Given the description of an element on the screen output the (x, y) to click on. 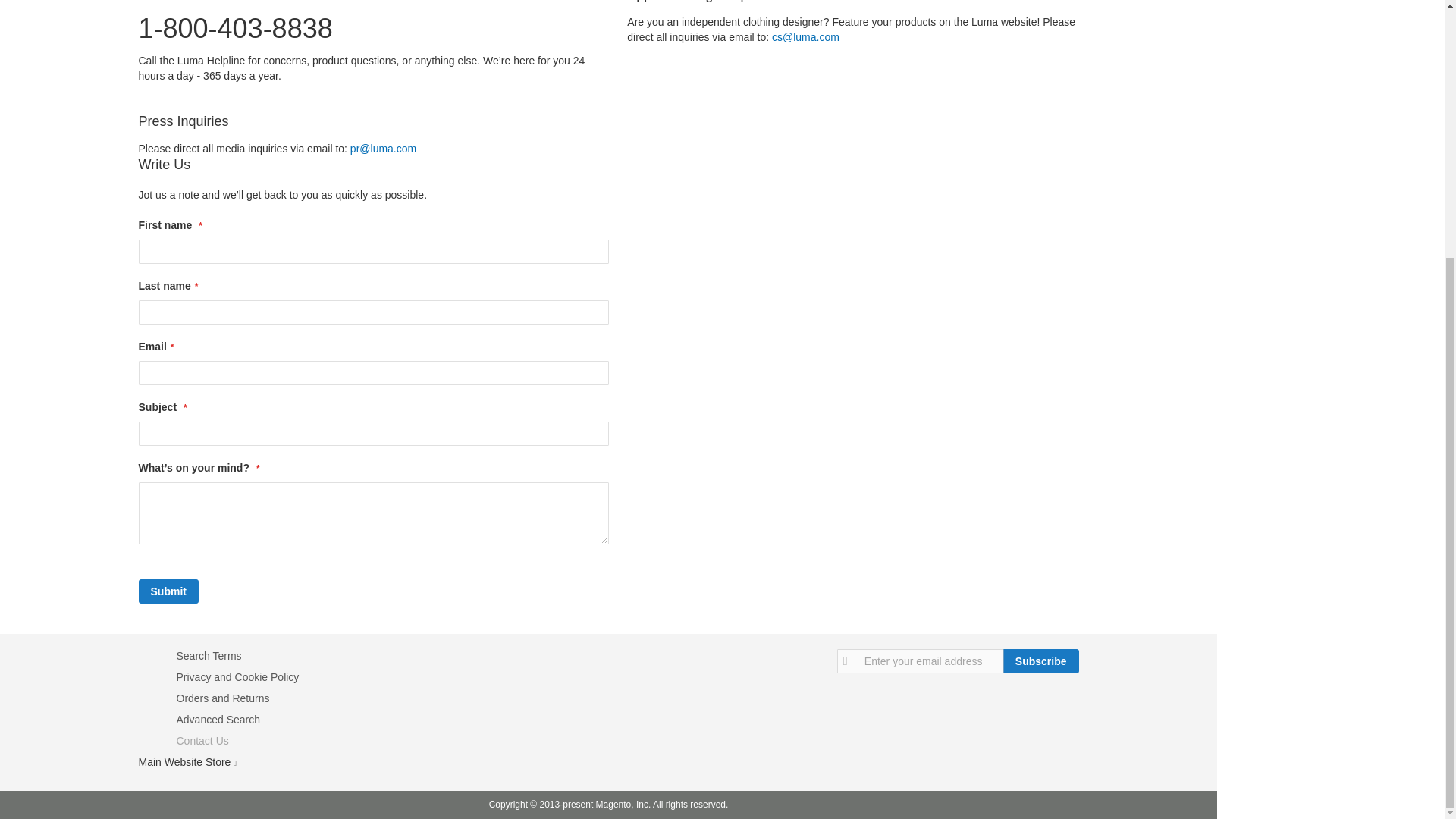
Email (373, 372)
Last name (373, 312)
Subscribe (1040, 661)
First name (373, 251)
Subject (373, 433)
Submit (168, 591)
